Given the description of an element on the screen output the (x, y) to click on. 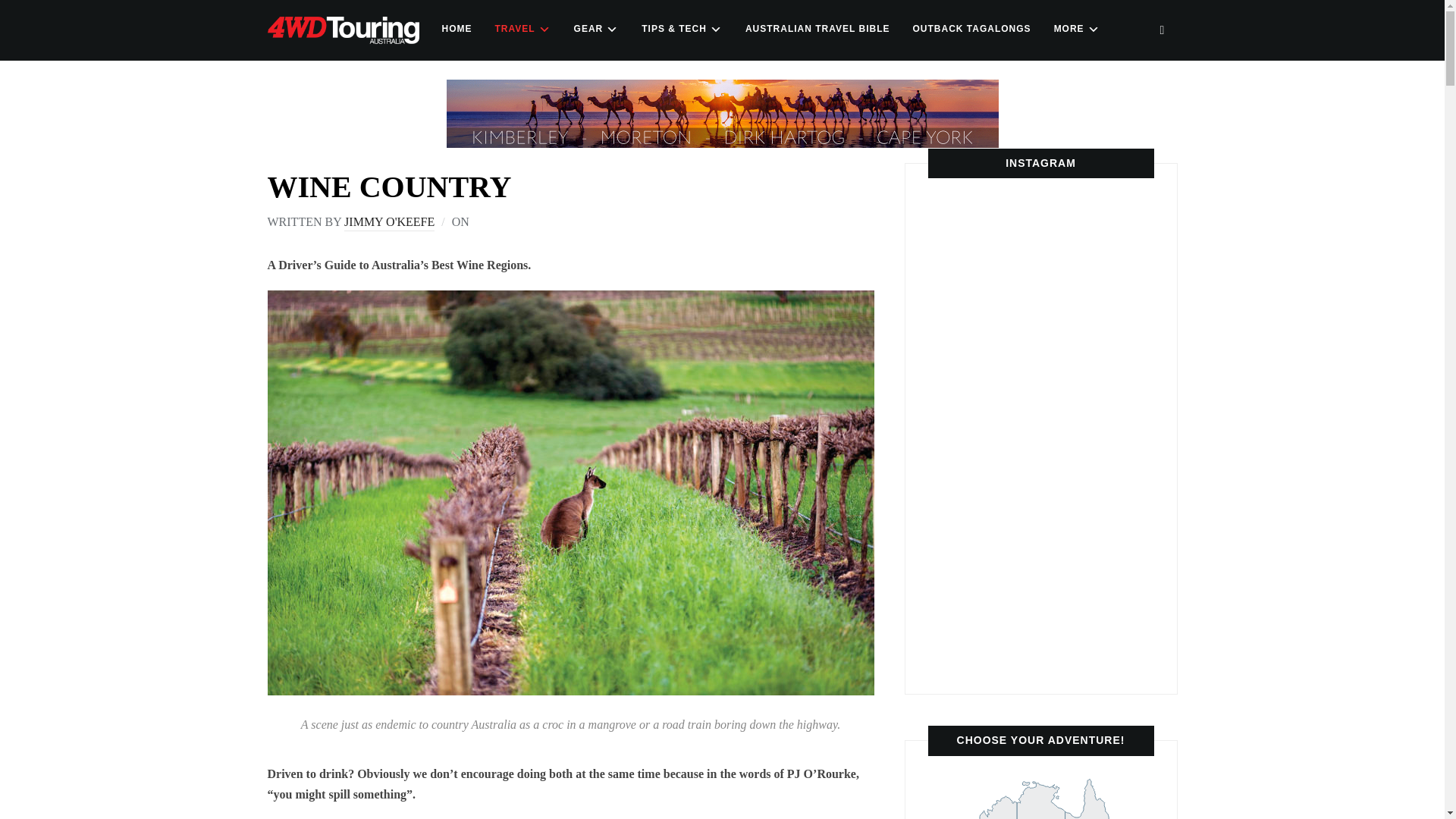
GEAR (596, 28)
Sunshine and rainbows (973, 526)
When the devil drives, needs must. (1064, 337)
TRAVEL (522, 28)
Posts by Jimmy O'Keefe (388, 222)
HOME (456, 28)
